Given the description of an element on the screen output the (x, y) to click on. 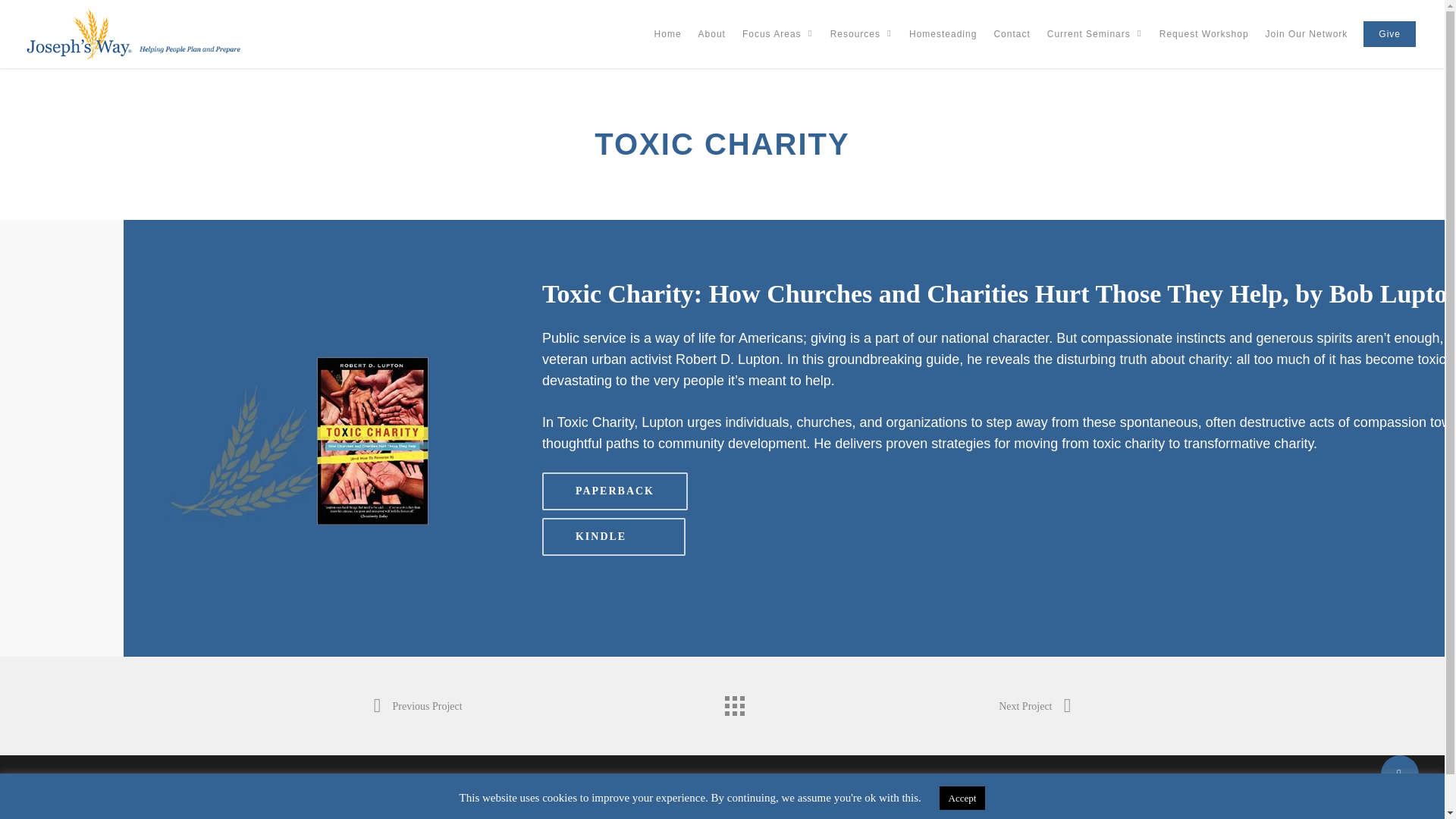
Homesteading (942, 35)
Current Seminars (1094, 35)
Join Our Network (1306, 35)
KINDLE (613, 536)
Focus Areas (778, 35)
PAPERBACK (614, 491)
Resources (860, 35)
Back to all projects (734, 702)
Previous Project (416, 706)
Next Project (1034, 706)
